Given the description of an element on the screen output the (x, y) to click on. 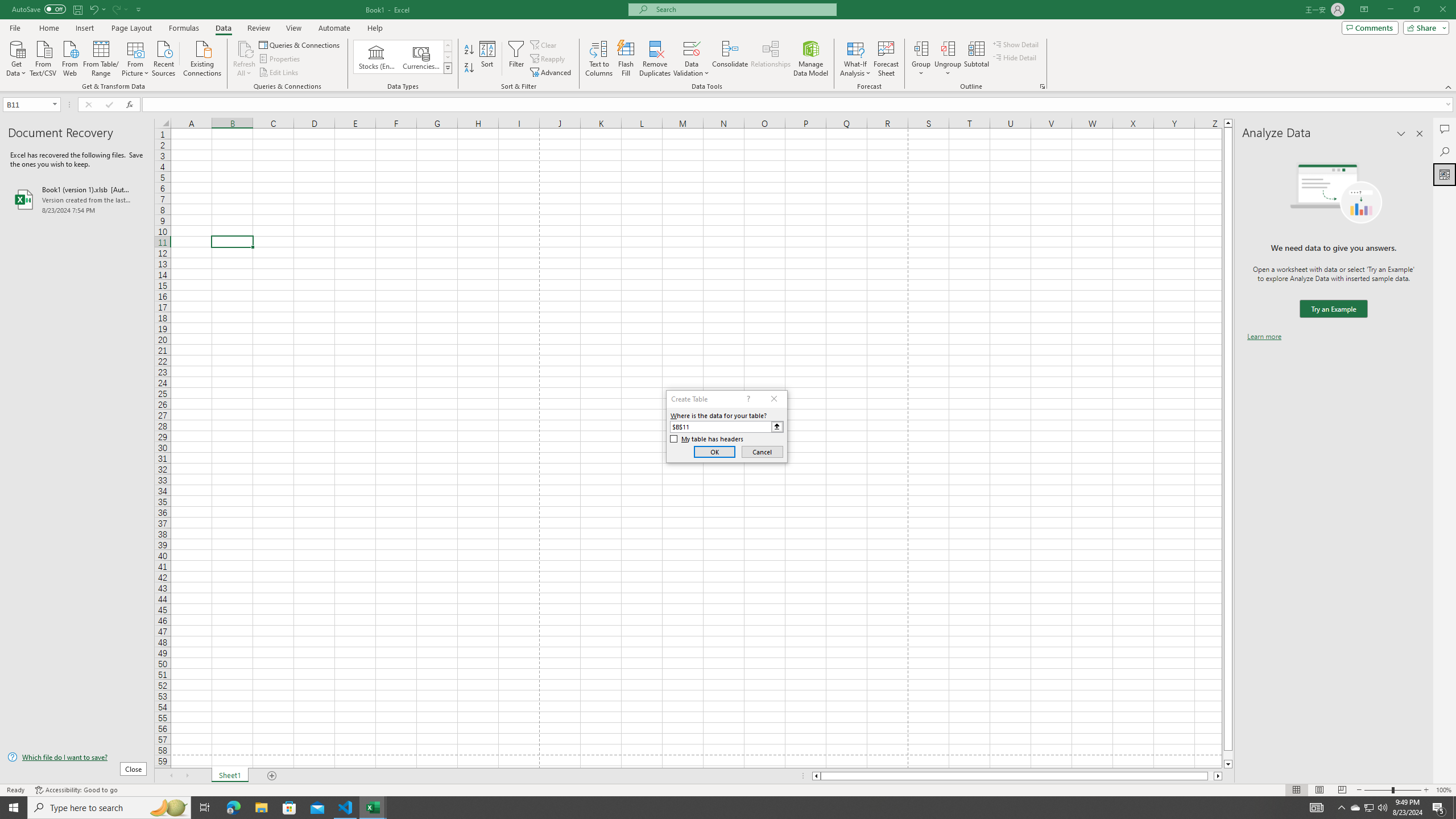
Relationships (770, 58)
We need data to give you answers. Try an Example (1333, 308)
From Text/CSV (43, 57)
Show Detail (1016, 44)
Analyze Data (1444, 173)
Search (1444, 151)
Manage Data Model (810, 58)
Sort A to Z (469, 49)
Edit Links (279, 72)
Row up (448, 45)
From Picture (135, 57)
